Given the description of an element on the screen output the (x, y) to click on. 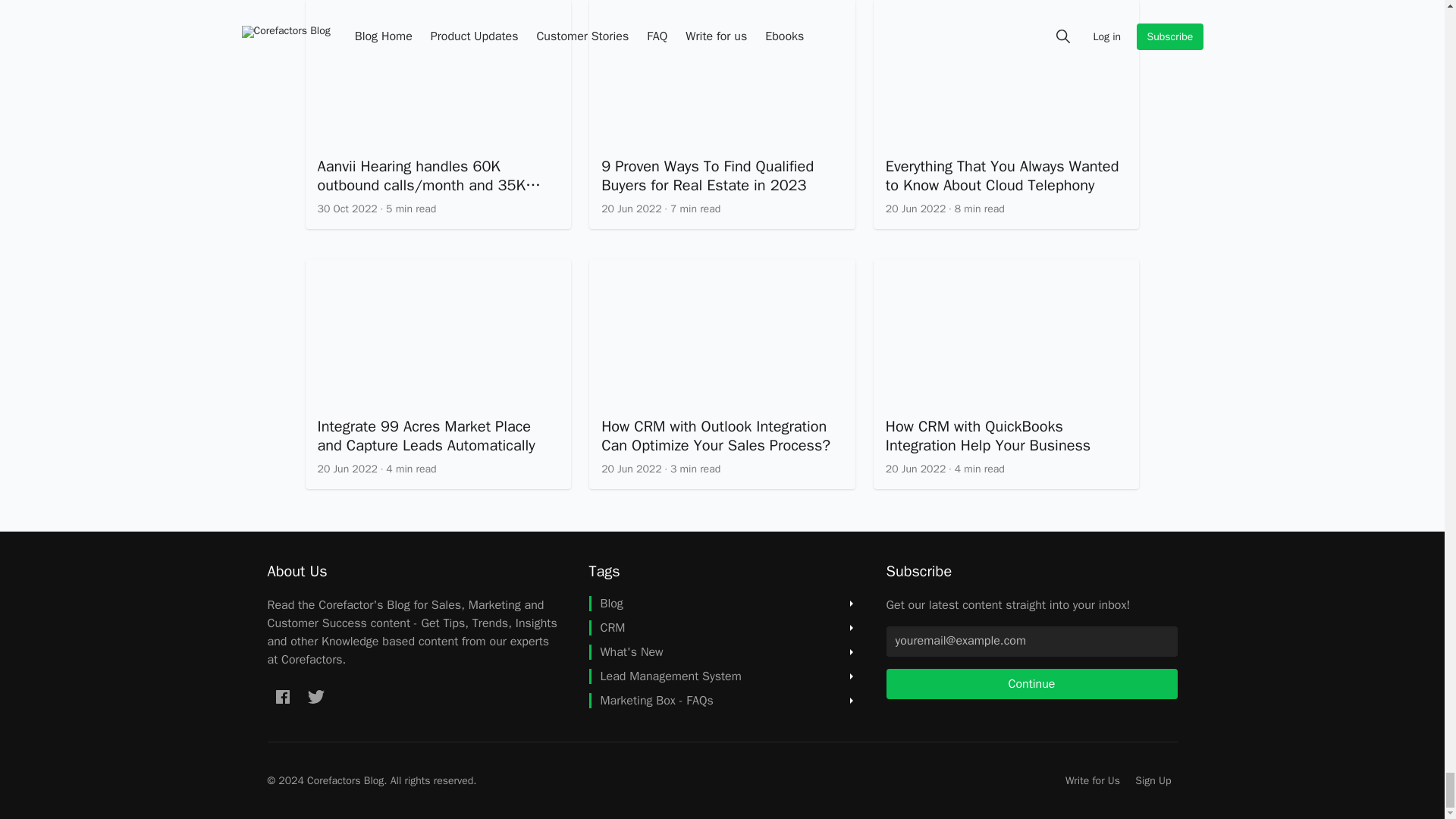
7 min read (694, 208)
5 min read (410, 208)
Updated 1 Jul 2024 (914, 208)
Updated 8 Mar 2024 (631, 208)
8 min read (979, 208)
Updated 23 Mar 2024 (347, 208)
